Given the description of an element on the screen output the (x, y) to click on. 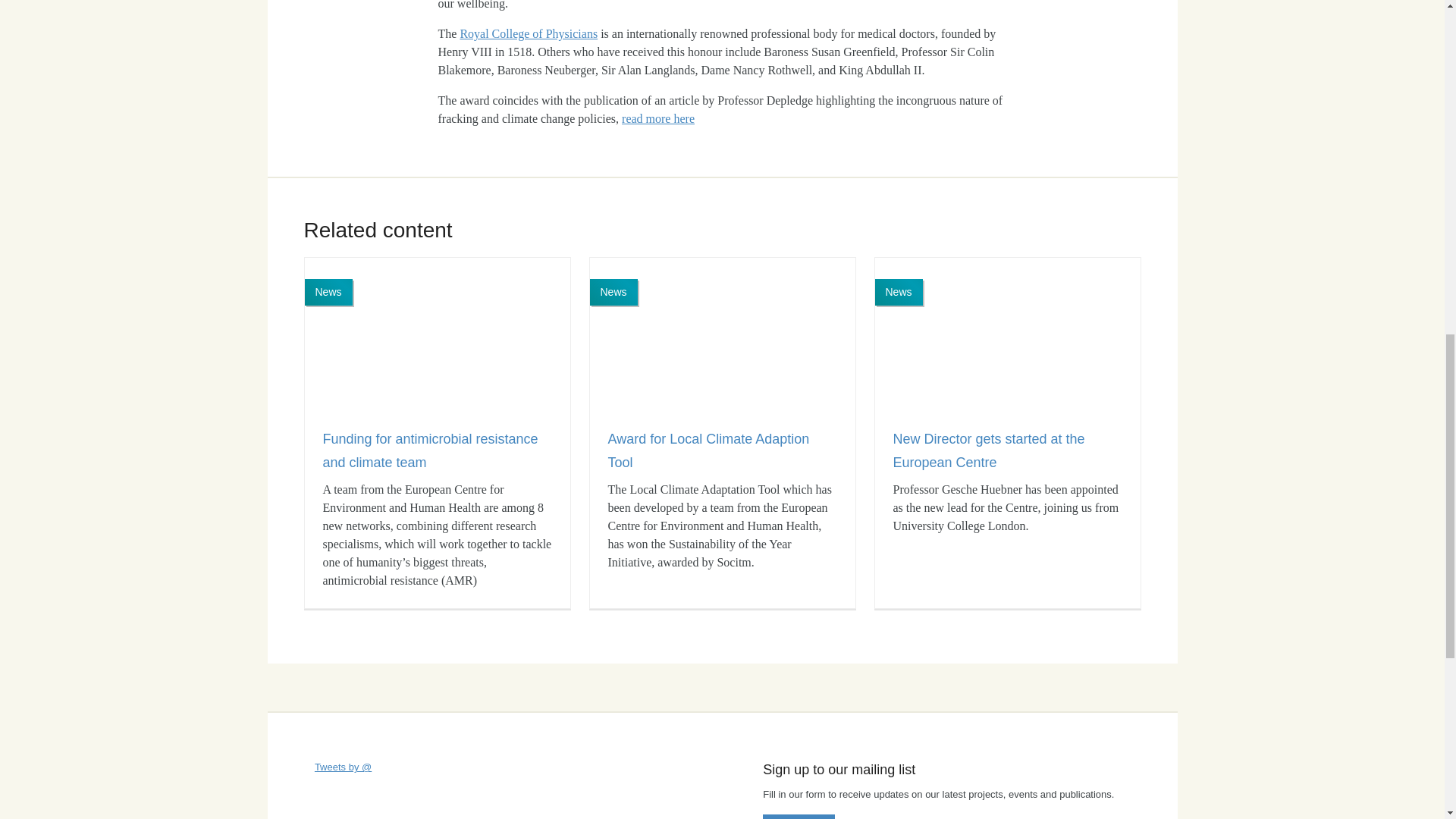
Royal College of Physicians (528, 33)
read more here (657, 118)
Subscribe (798, 816)
